Given the description of an element on the screen output the (x, y) to click on. 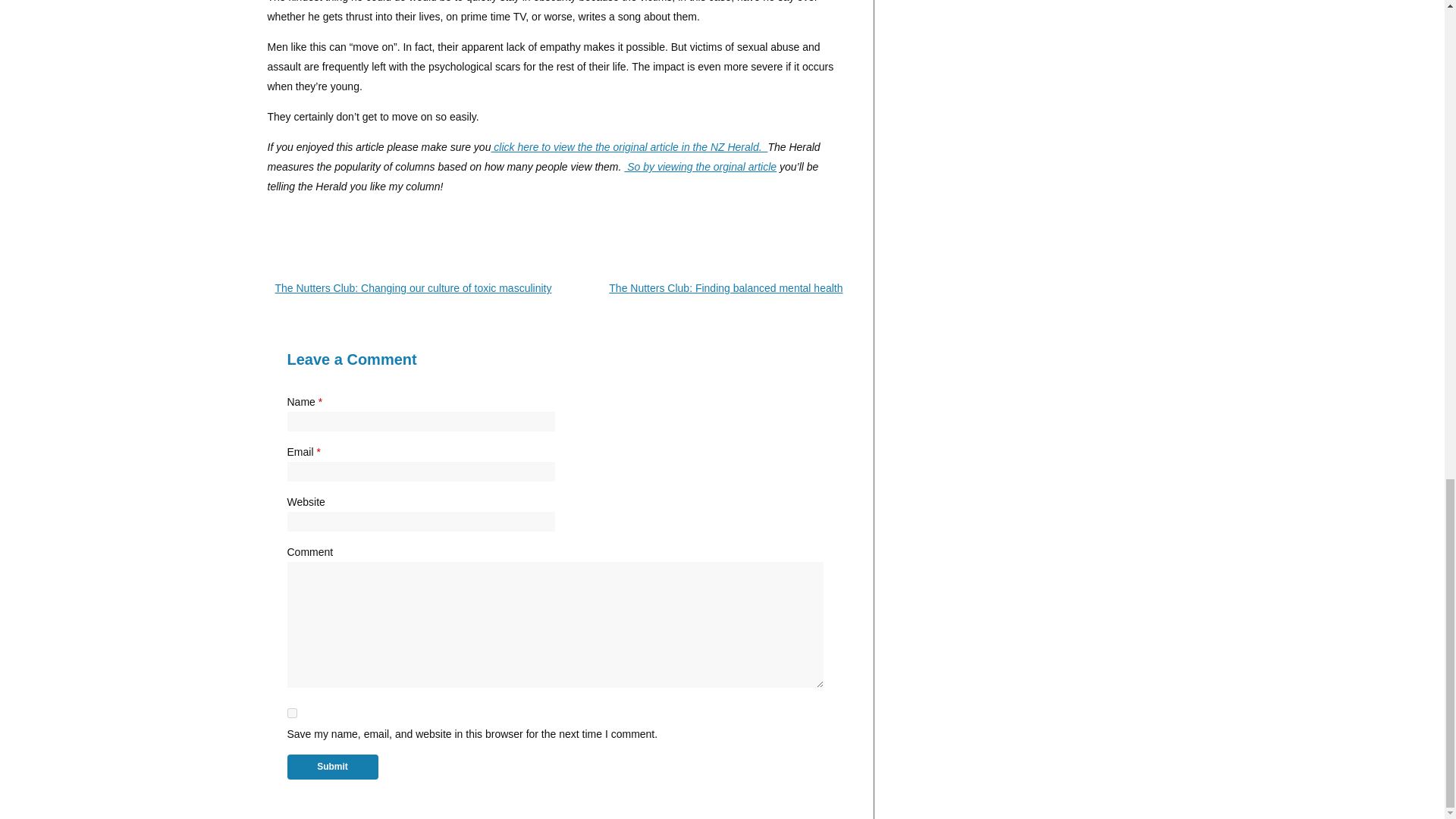
Submit (331, 766)
yes (291, 713)
Submit (331, 766)
The Nutters Club: Changing our culture of toxic masculinity (413, 287)
The Nutters Club: Finding balanced mental health (725, 287)
So by viewing the orginal article (700, 166)
